Given the description of an element on the screen output the (x, y) to click on. 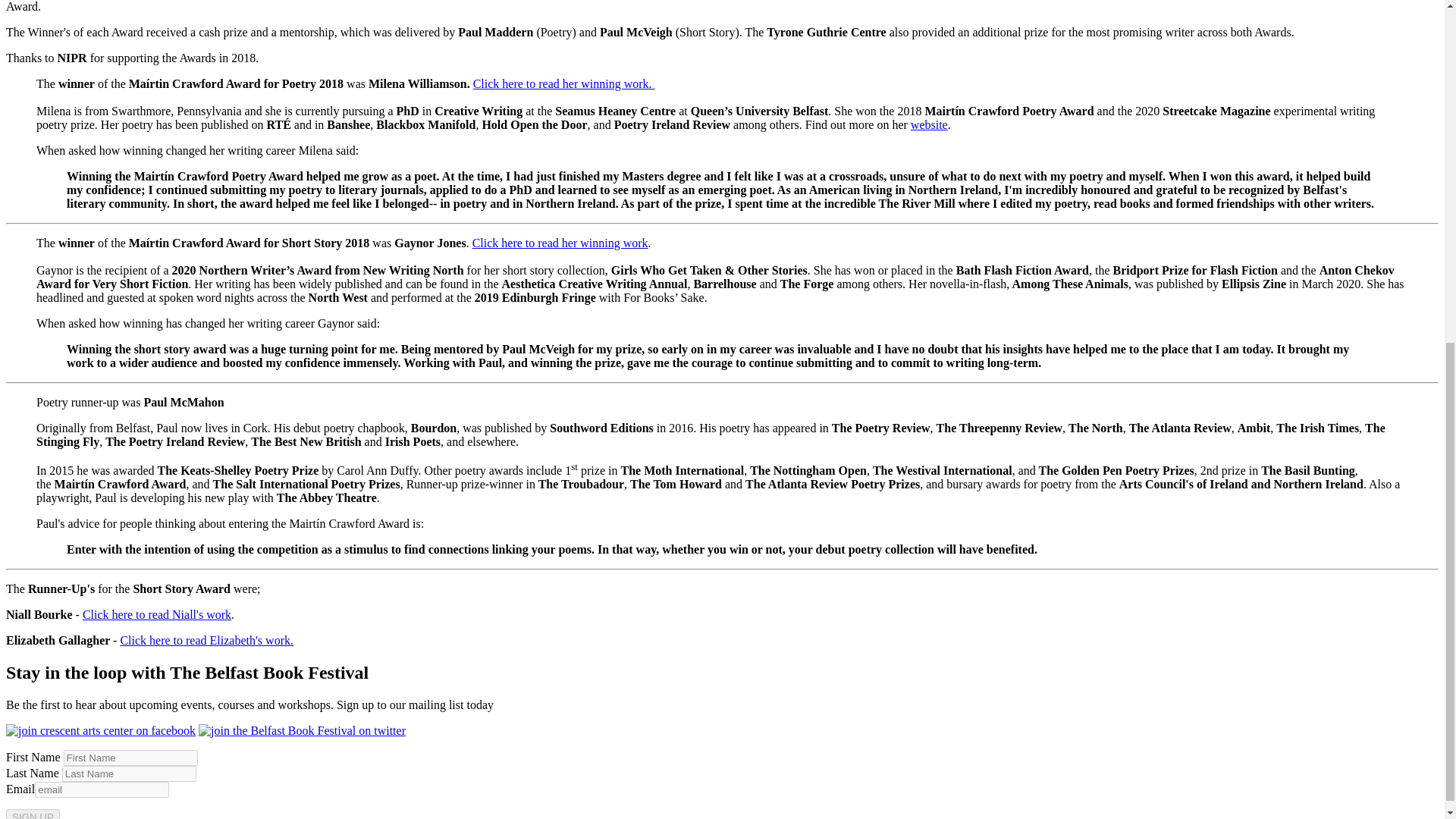
Click here to read Elizabeth's work. (206, 640)
website (929, 124)
Click here to read her winning work (559, 242)
Click here to read Niall's work (156, 614)
Click here to read her winning work.  (564, 83)
